Given the description of an element on the screen output the (x, y) to click on. 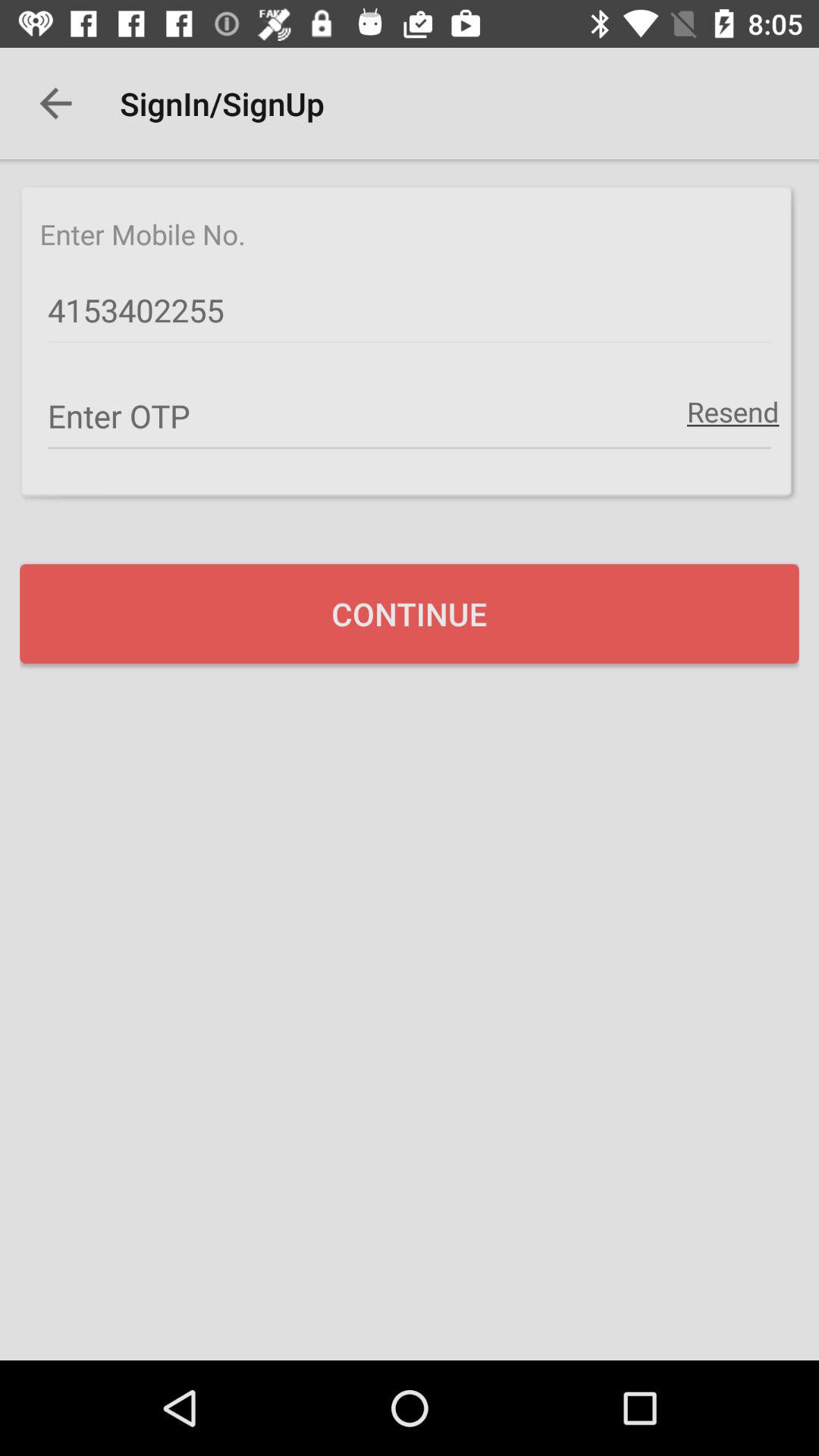
turn off the item below 4153402255 (409, 416)
